Given the description of an element on the screen output the (x, y) to click on. 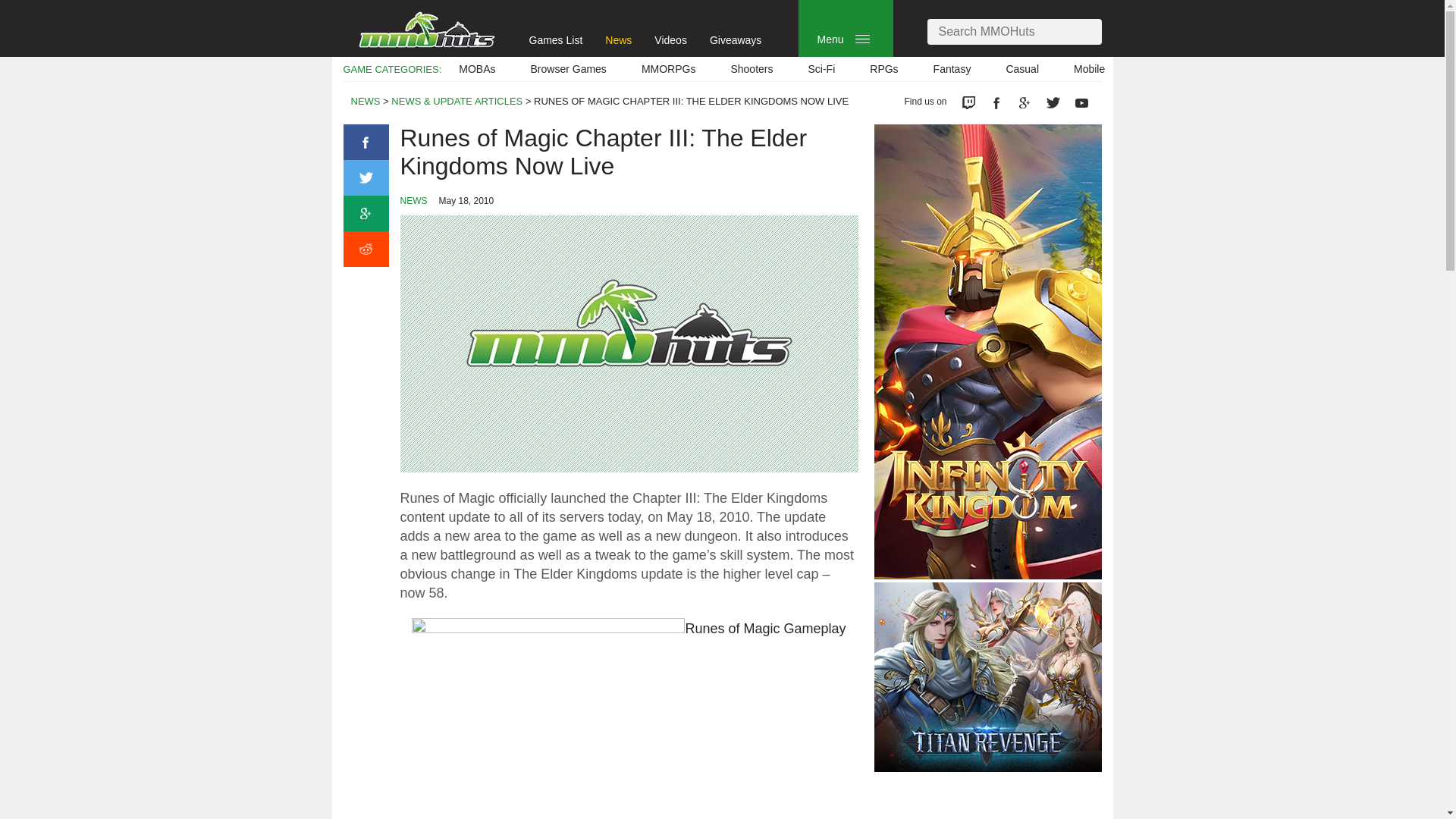
Go to All Games (556, 39)
Giveaways (735, 39)
MOBAs (476, 69)
NEWS (365, 101)
Fantasy (952, 69)
MMORPGs (668, 69)
RPGs (883, 69)
Go to All News - Just Updated! (618, 39)
Shooters (751, 69)
Casual (1022, 69)
